Given the description of an element on the screen output the (x, y) to click on. 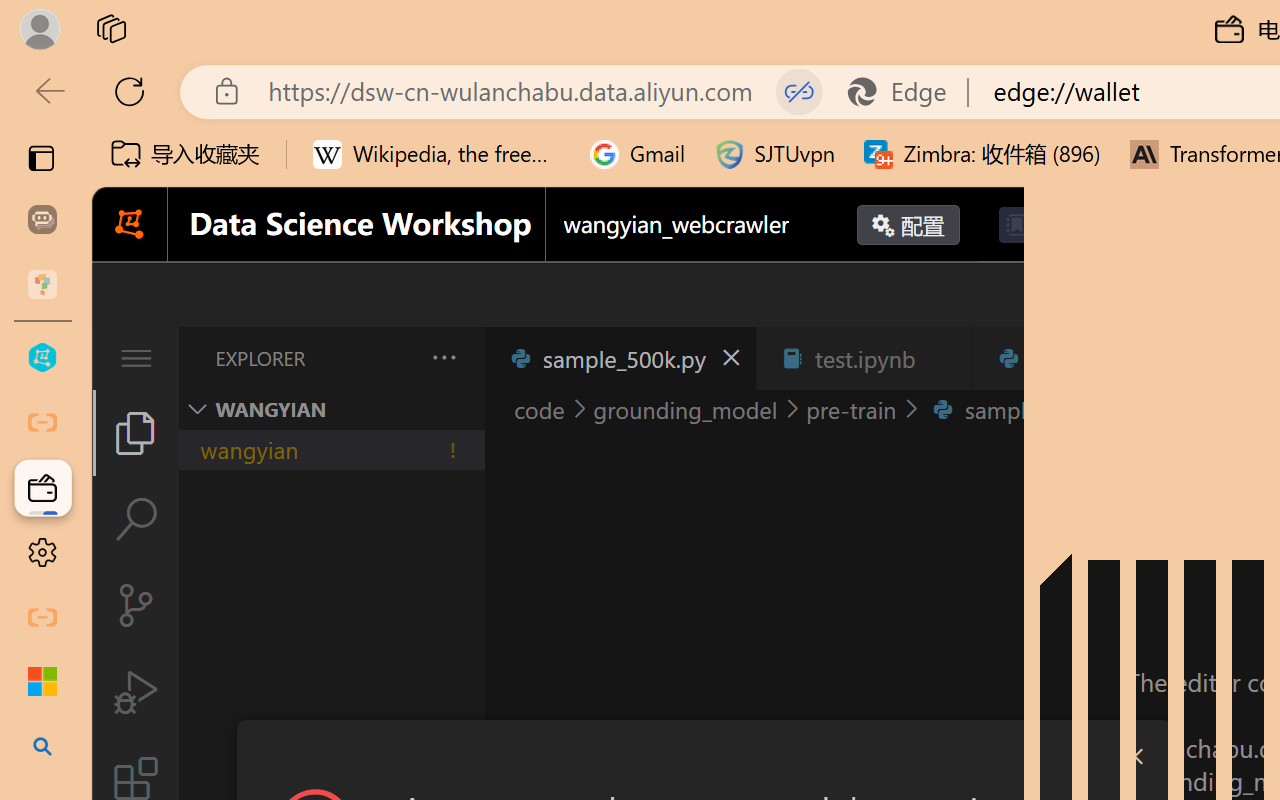
Gmail (637, 154)
Search (Ctrl+Shift+F) (135, 519)
Tab actions (1188, 358)
test.ipynb (864, 358)
Go Forward (Alt+RightArrow) (1102, 295)
Source Control (Ctrl+Shift+G) (135, 604)
Class: menubar compact overflow-menu-only (135, 358)
Close (Ctrl+F4) (1188, 358)
wangyian_dsw - DSW (42, 357)
Go Back (Alt+LeftArrow) (1055, 295)
